Given the description of an element on the screen output the (x, y) to click on. 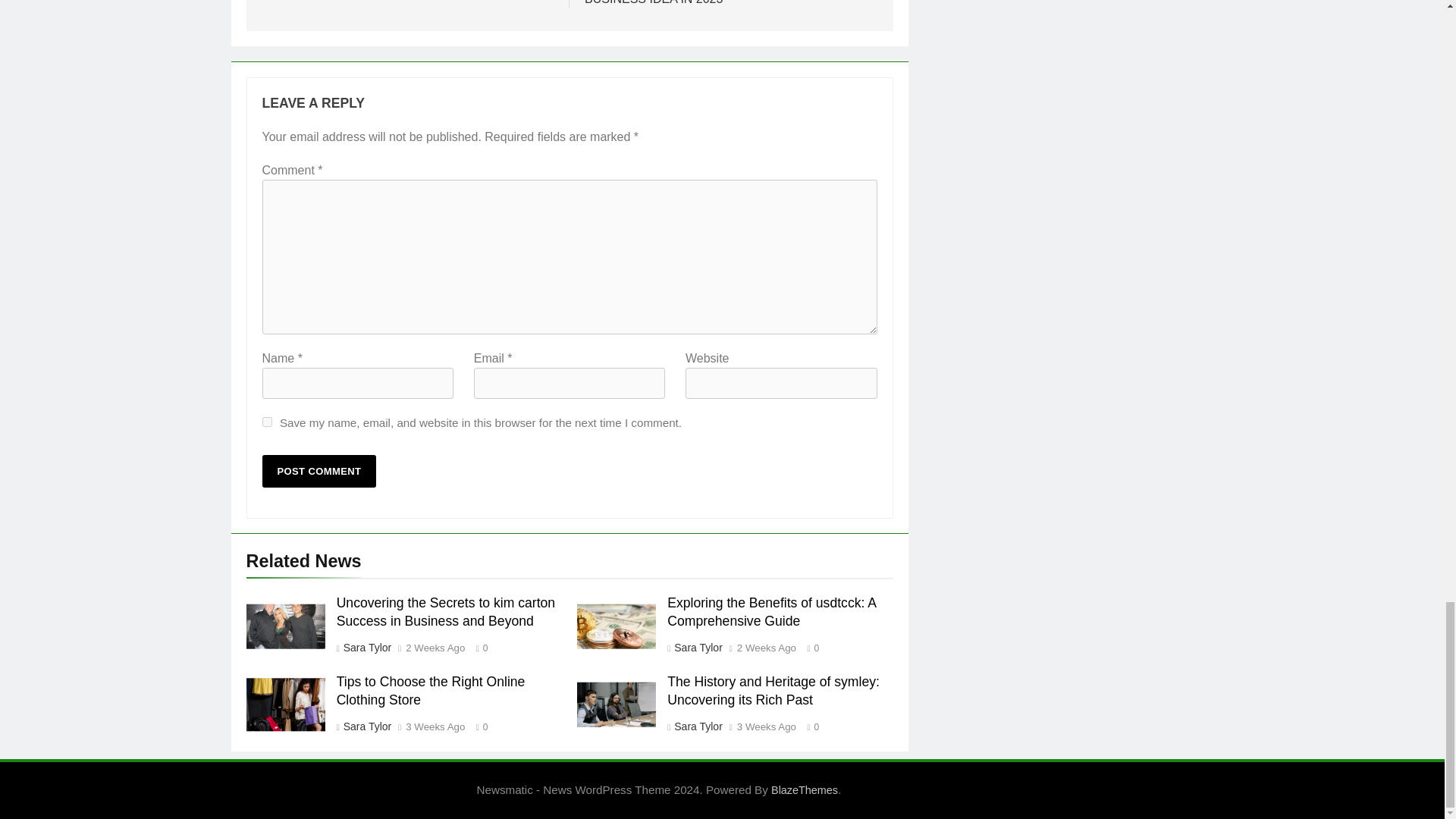
Post Comment (319, 471)
yes (267, 421)
